Given the description of an element on the screen output the (x, y) to click on. 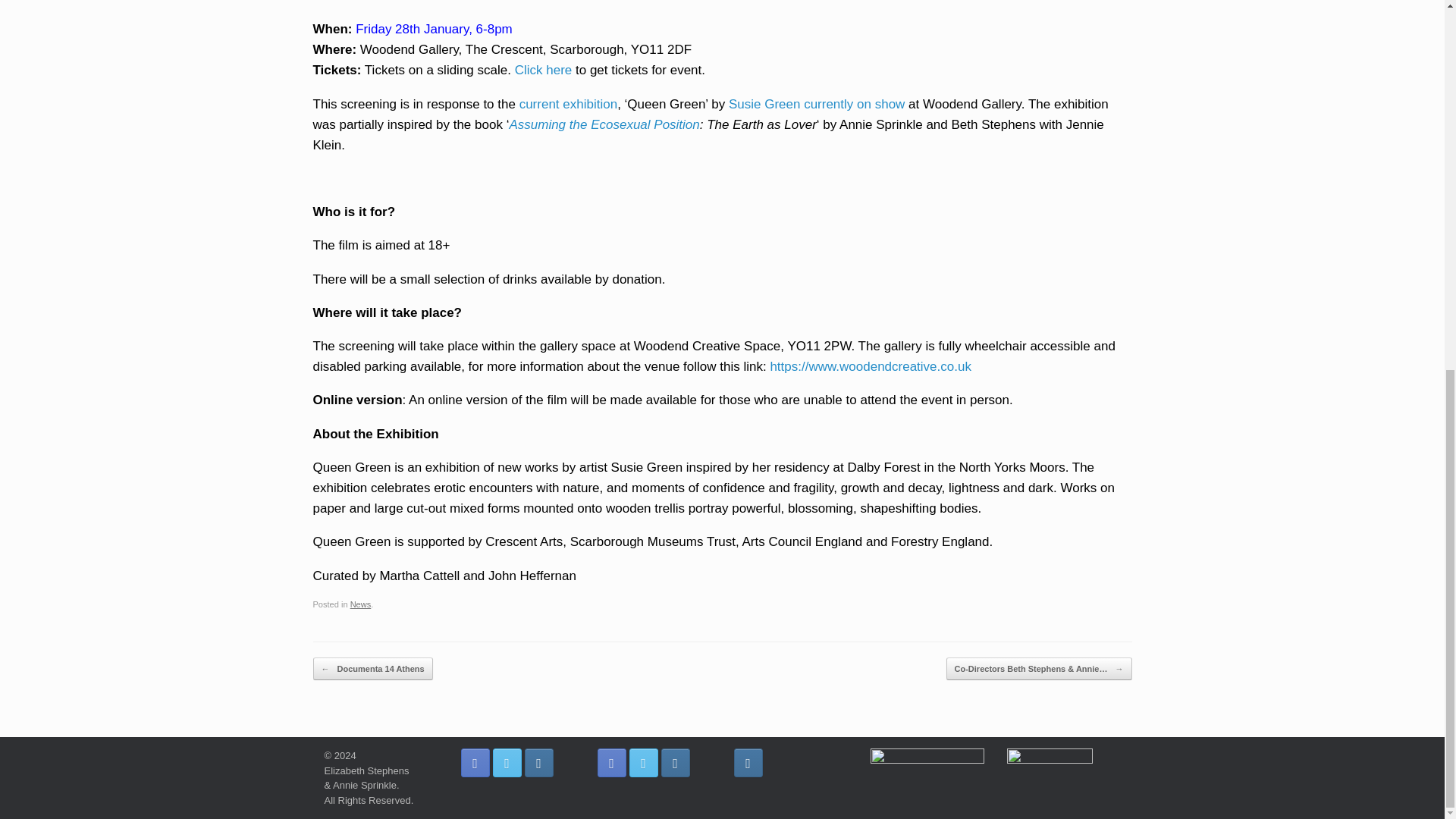
E.A.R.T.H.Lab SF Instagram (538, 762)
E.A.R.T.H.Lab SF Facebook (611, 762)
current exhibition (568, 103)
E.A.R.T.H.Lab SF Instagram (675, 762)
Venmo (927, 759)
E.A.R.T.H.Lab SF Facebook (475, 762)
News (360, 604)
Click here (543, 69)
E.A.R.T.H.Lab SF Instagram (747, 762)
Assuming the Ecosexual Position (603, 124)
Susie Green currently on show (816, 103)
